Given the description of an element on the screen output the (x, y) to click on. 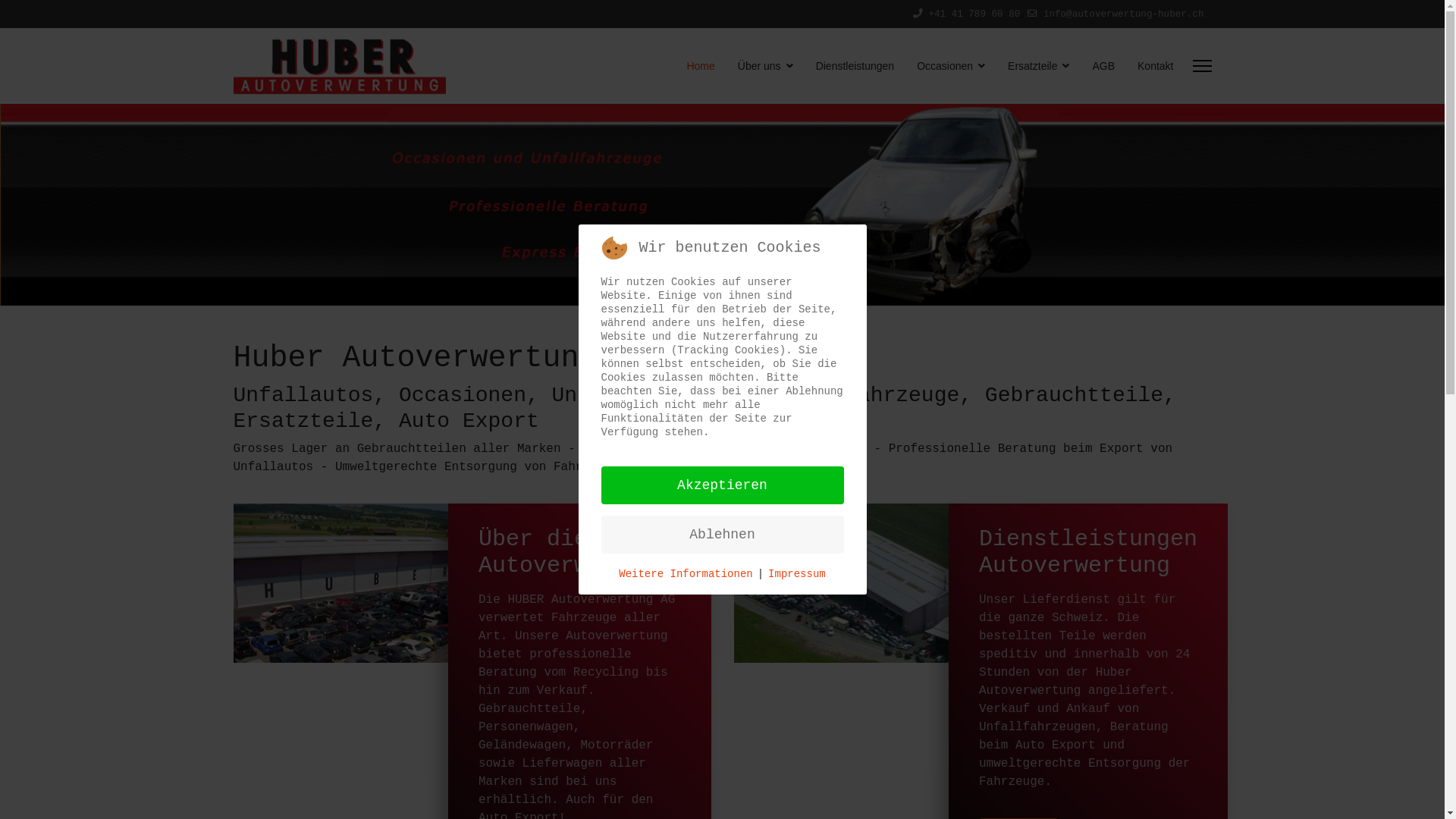
Impressum Element type: text (796, 573)
Menu Element type: hover (1201, 65)
Weitere Informationen Element type: text (685, 573)
Ablehnen Element type: text (721, 534)
Dienstleistungen Element type: text (855, 65)
info@autoverwertung-huber.ch Element type: text (1123, 14)
Ersatzteile Element type: text (1038, 65)
+41 41 789 60 80 Element type: text (973, 14)
Akzeptieren Element type: text (721, 485)
Kontakt Element type: text (1149, 65)
AGB Element type: text (1103, 65)
Home Element type: text (699, 65)
Occasionen Element type: text (950, 65)
